Given the description of an element on the screen output the (x, y) to click on. 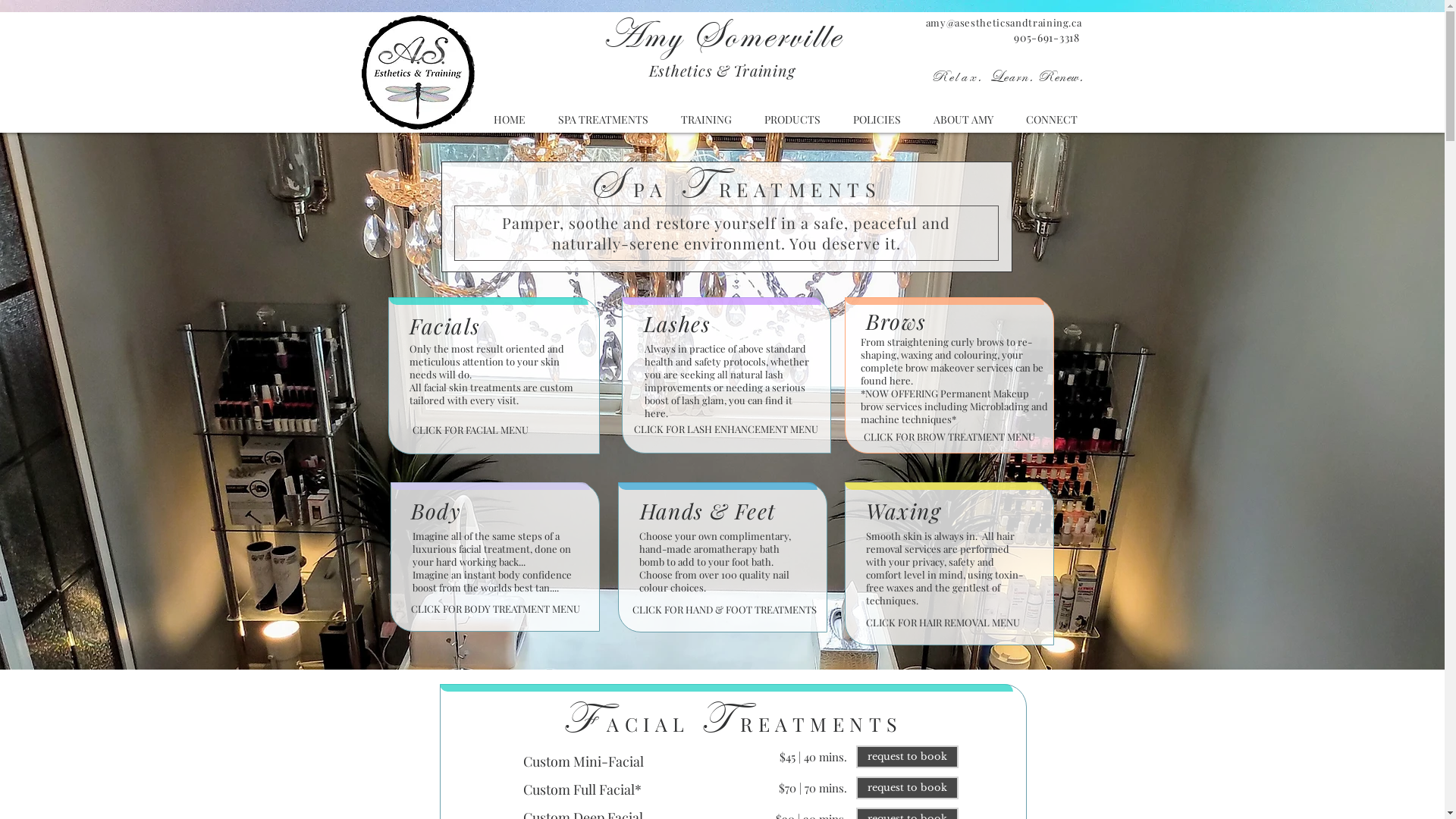
CLICK FOR HAIR REMOVAL MENU Element type: text (942, 622)
CONNECT Element type: text (1052, 118)
CLICK FOR BODY TREATMENT MENU Element type: text (495, 609)
CLICK FOR HAND & FOOT TREATMENTS Element type: text (724, 609)
CLICK FOR  Element type: text (660, 429)
CLICK FOR FACIAL MENU Element type: text (470, 429)
request to book Element type: text (906, 787)
HOME Element type: text (508, 118)
amy@asestheticsandtraining.ca Element type: text (1003, 21)
POLICIES Element type: text (877, 118)
SPA TREATMENTS Element type: text (602, 118)
ABOUT AMY Element type: text (963, 118)
TRAINING Element type: text (705, 118)
CLICK FOR BROW TREATMENT MENU Element type: text (948, 436)
request to book Element type: text (906, 756)
LASH ENHANCEMENT MENU Element type: text (752, 429)
PRODUCTS Element type: text (791, 118)
